Given the description of an element on the screen output the (x, y) to click on. 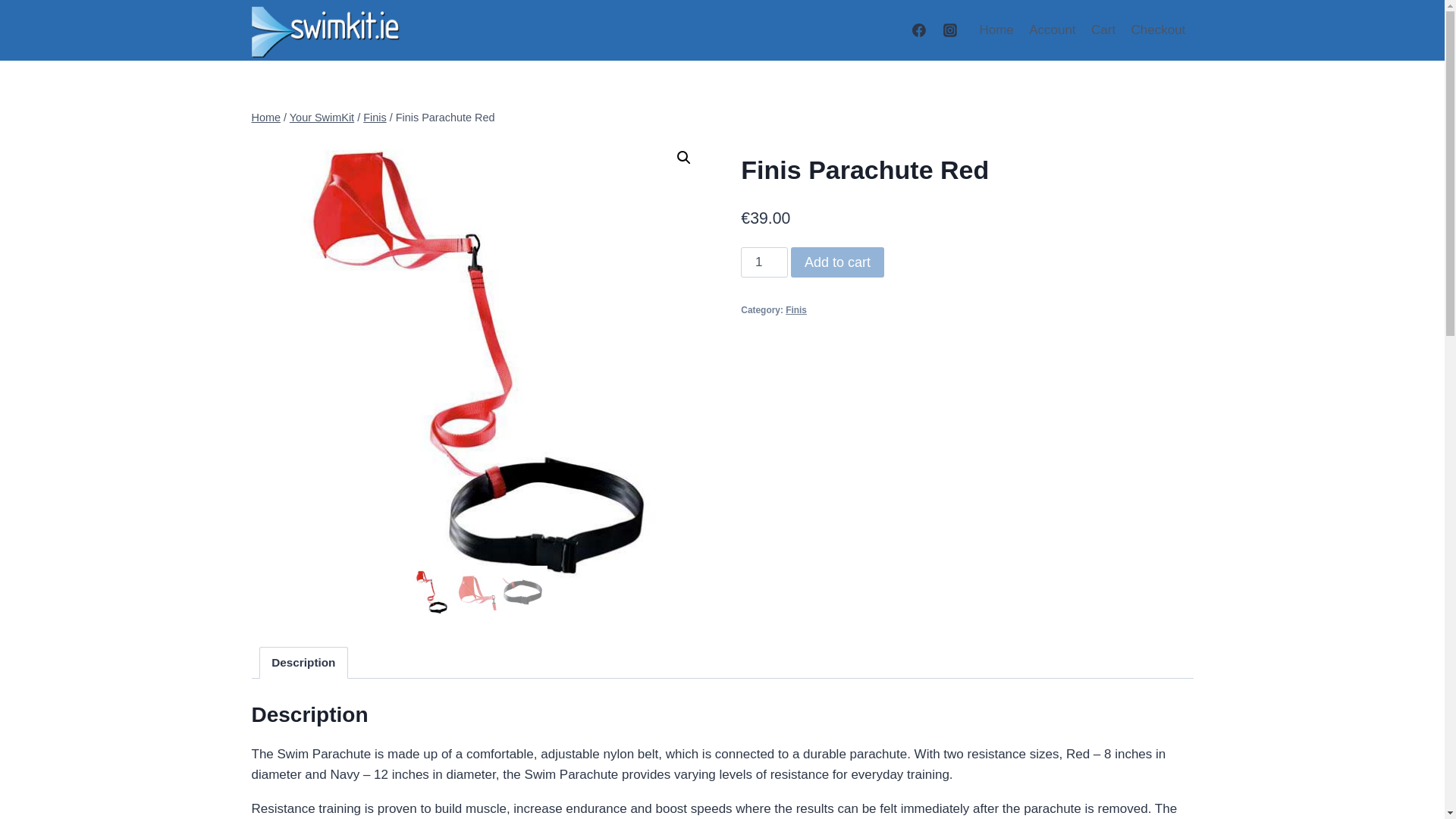
Cart (1103, 30)
Finis (796, 309)
Description (303, 662)
1 (764, 262)
Home (266, 117)
Finis (373, 117)
Home (996, 30)
Checkout (1157, 30)
Your SwimKit (321, 117)
Add to cart (836, 262)
